Given the description of an element on the screen output the (x, y) to click on. 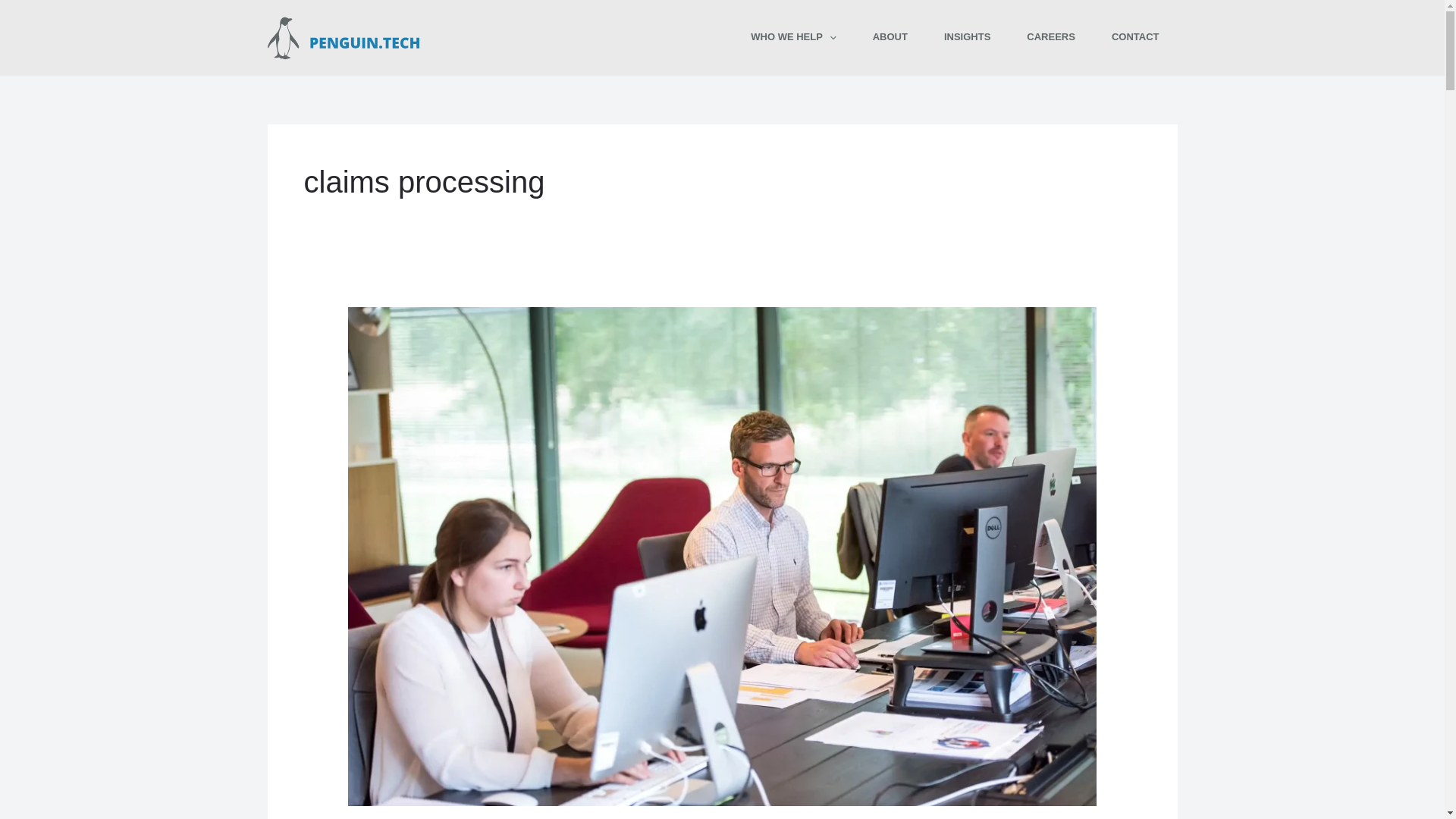
INSIGHTS (967, 37)
CAREERS (1051, 37)
WHO WE HELP (792, 37)
ABOUT (890, 37)
CONTACT (1135, 37)
